Given the description of an element on the screen output the (x, y) to click on. 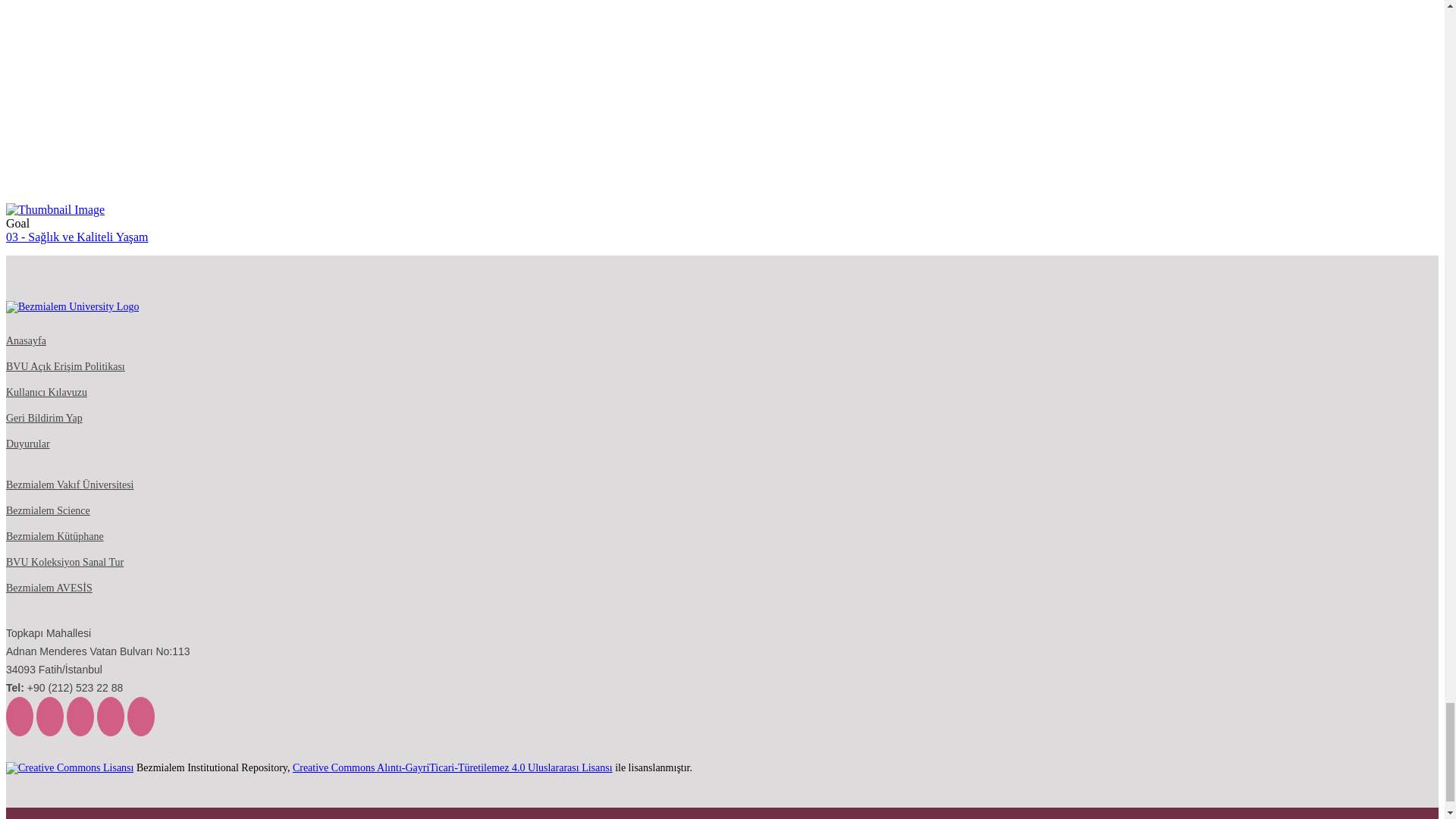
Bezmialem Science (47, 511)
Anasayfa (25, 340)
Geri Bildirim Yap (43, 418)
Duyurular (27, 443)
BVU Koleksiyon Sanal Tur (64, 562)
